Given the description of an element on the screen output the (x, y) to click on. 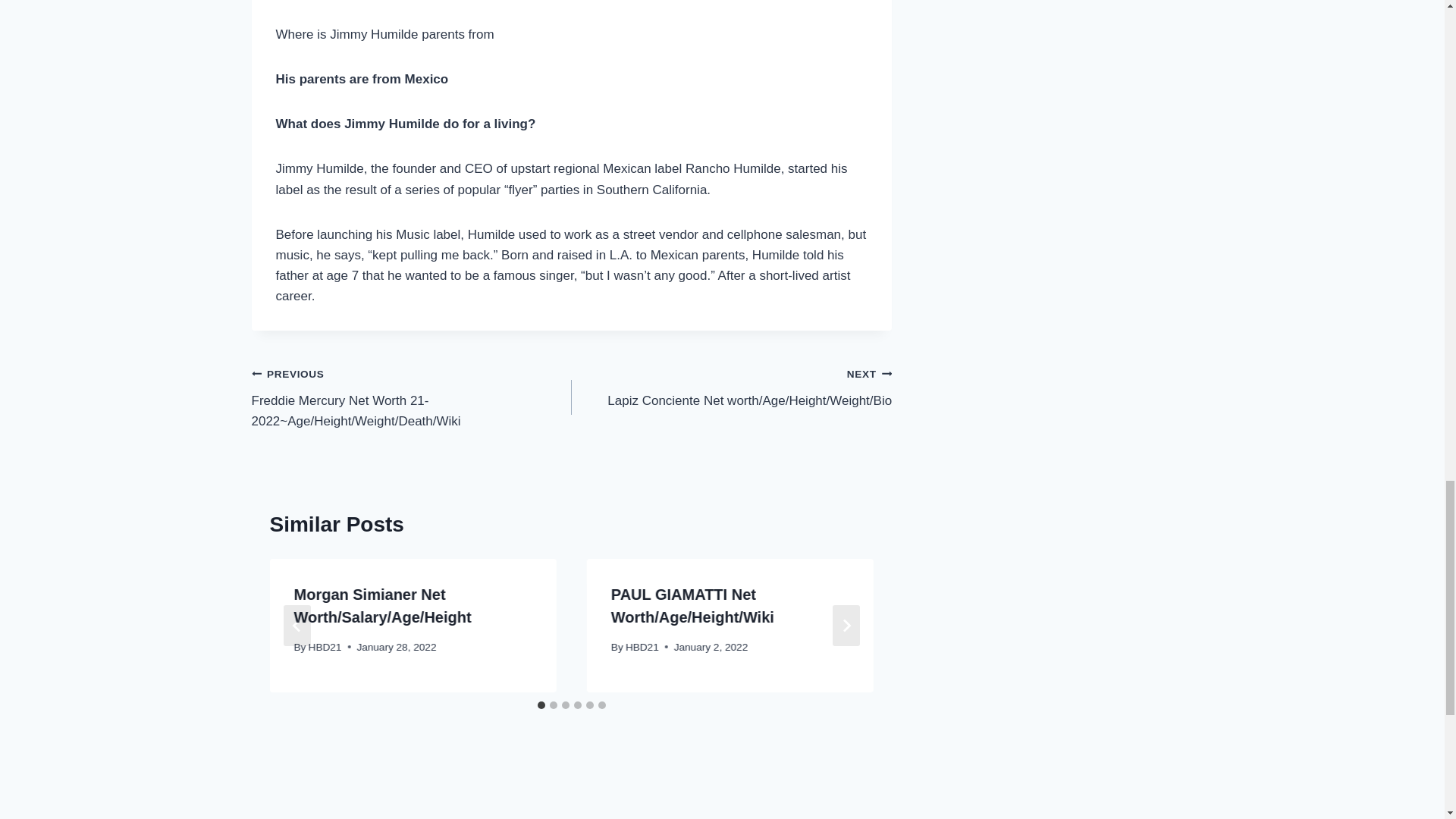
HBD21 (642, 646)
HBD21 (325, 646)
